Given the description of an element on the screen output the (x, y) to click on. 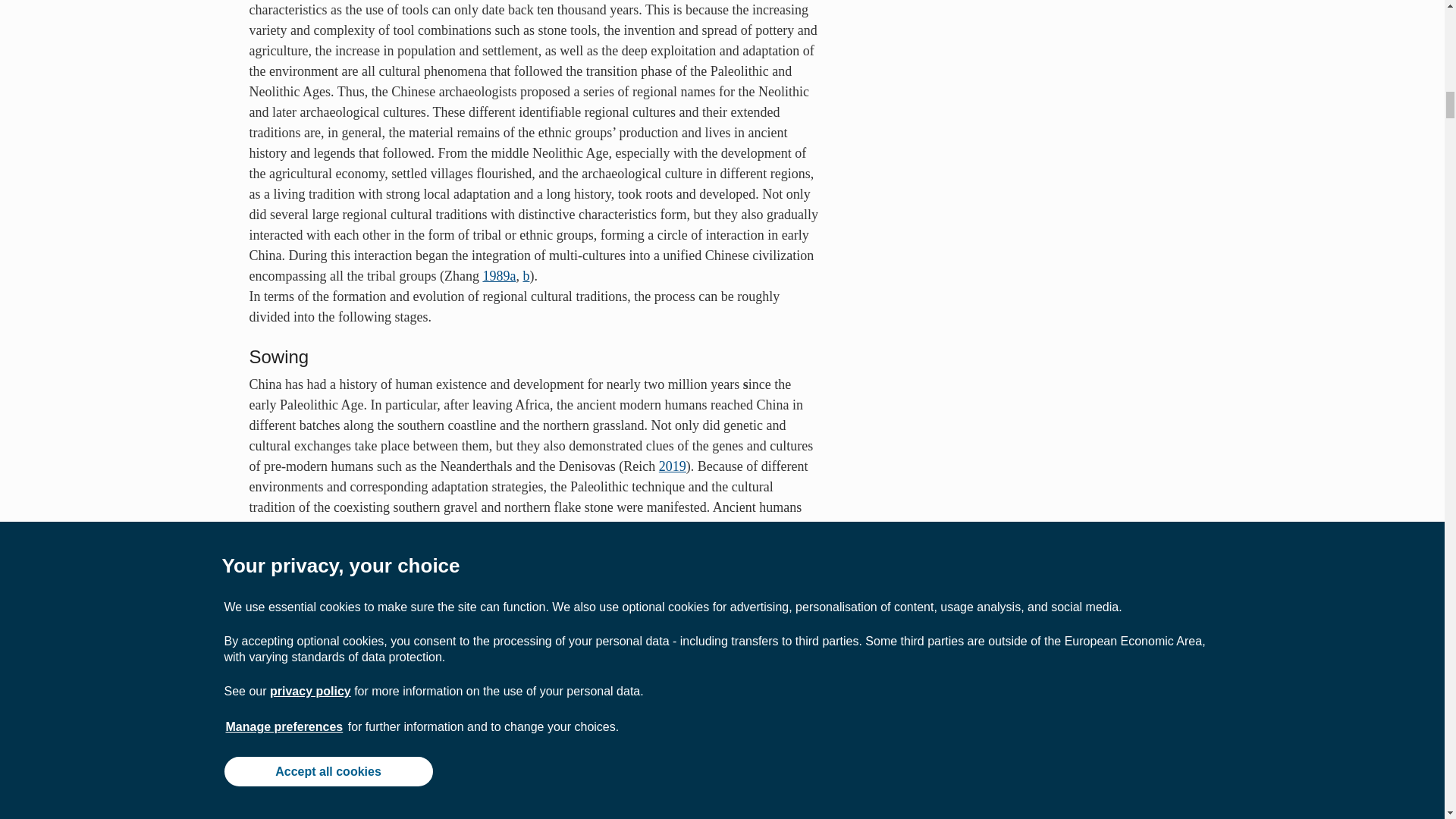
b (525, 275)
1989a (713, 775)
2019 (498, 275)
